Given the description of an element on the screen output the (x, y) to click on. 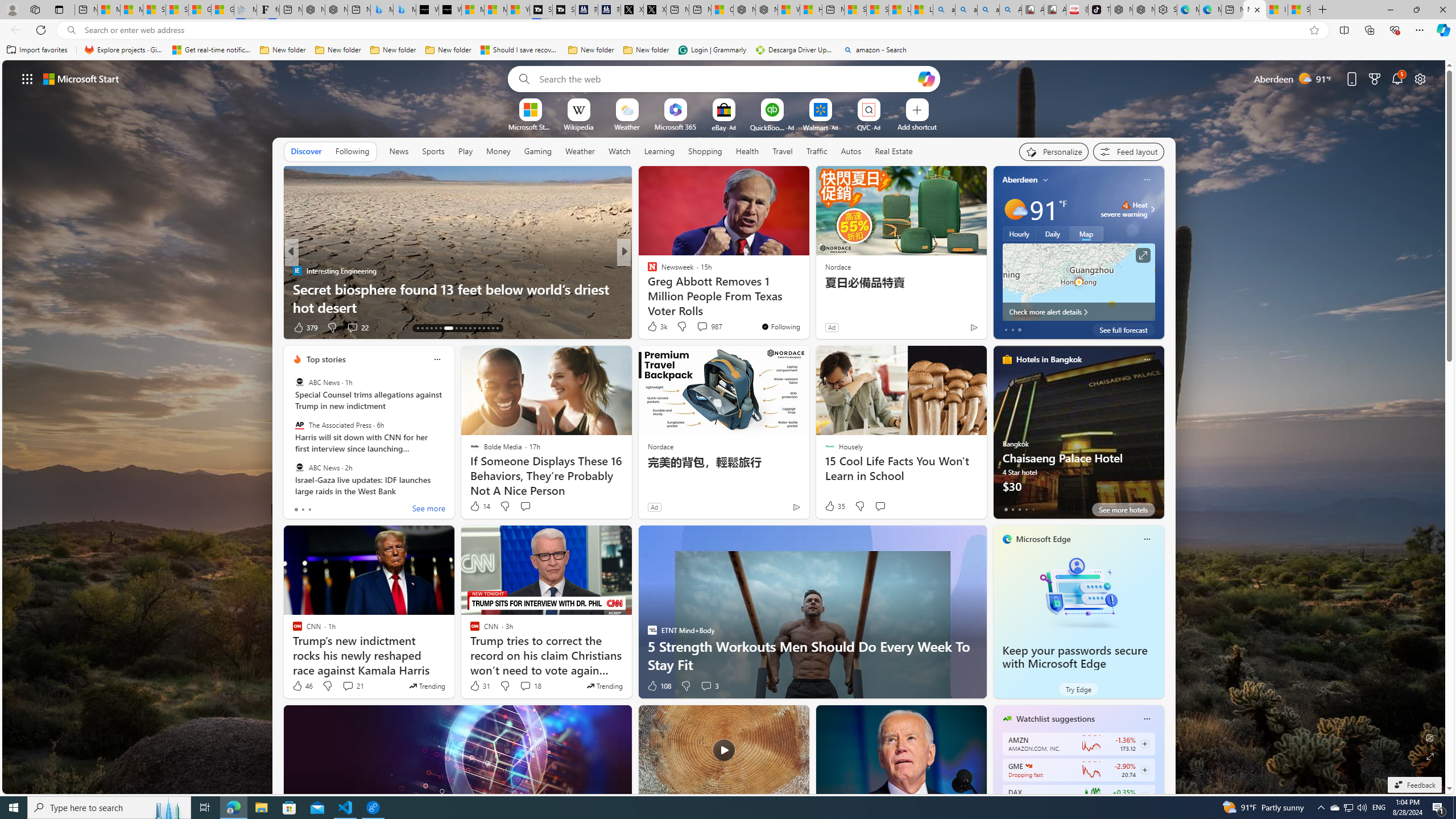
35 Like (834, 505)
3k Like (656, 326)
View comments 987 Comment (701, 326)
31 Like (479, 685)
View comments 18 Comment (525, 685)
